Given the description of an element on the screen output the (x, y) to click on. 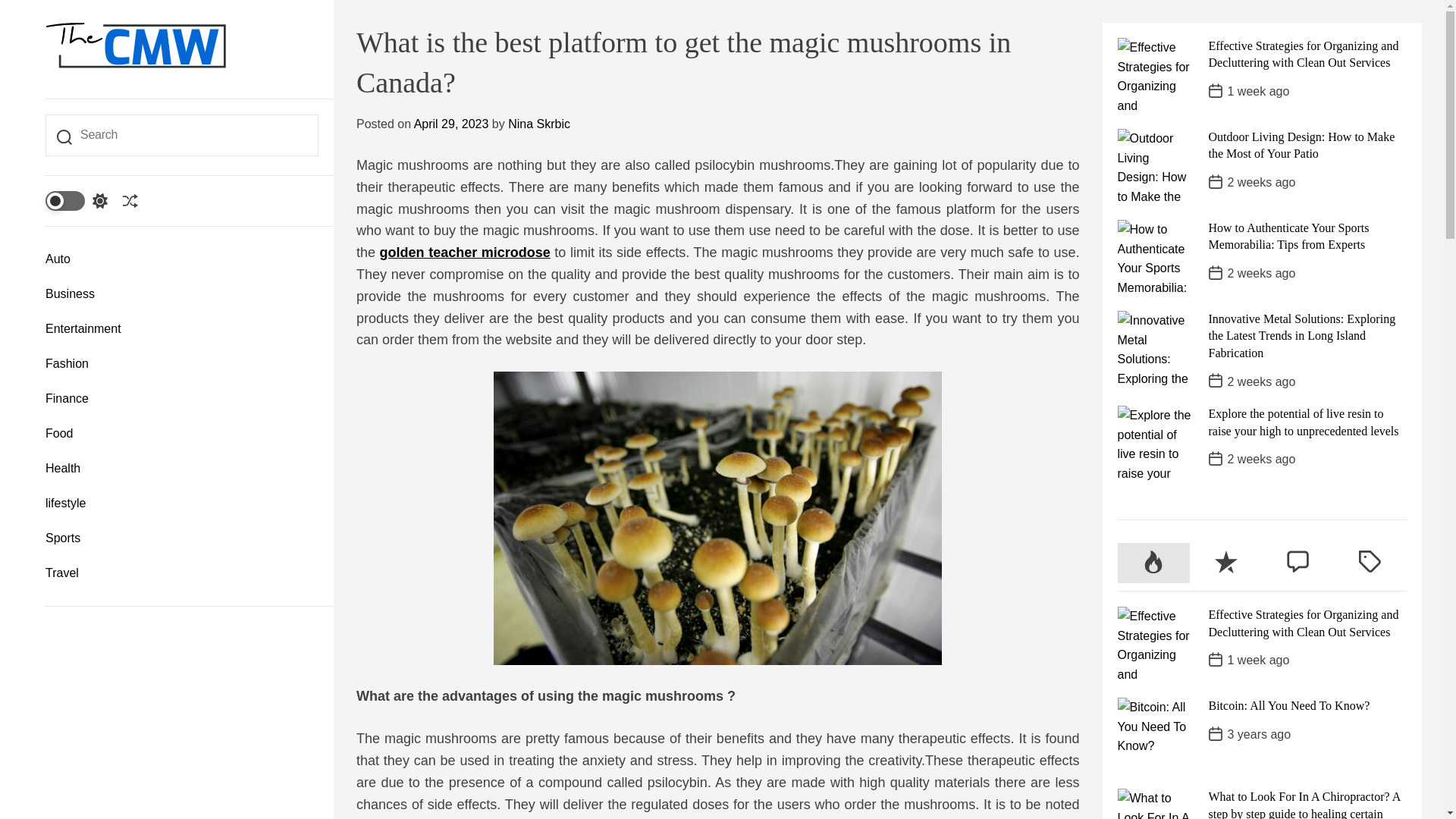
Entertainment (181, 329)
Nina Skrbic (539, 123)
Business (181, 294)
Switch color mode (76, 200)
April 29, 2023 (451, 123)
Finance (181, 398)
Fashion (181, 363)
Travel (181, 573)
lifestyle (181, 503)
Auto (181, 258)
